Given the description of an element on the screen output the (x, y) to click on. 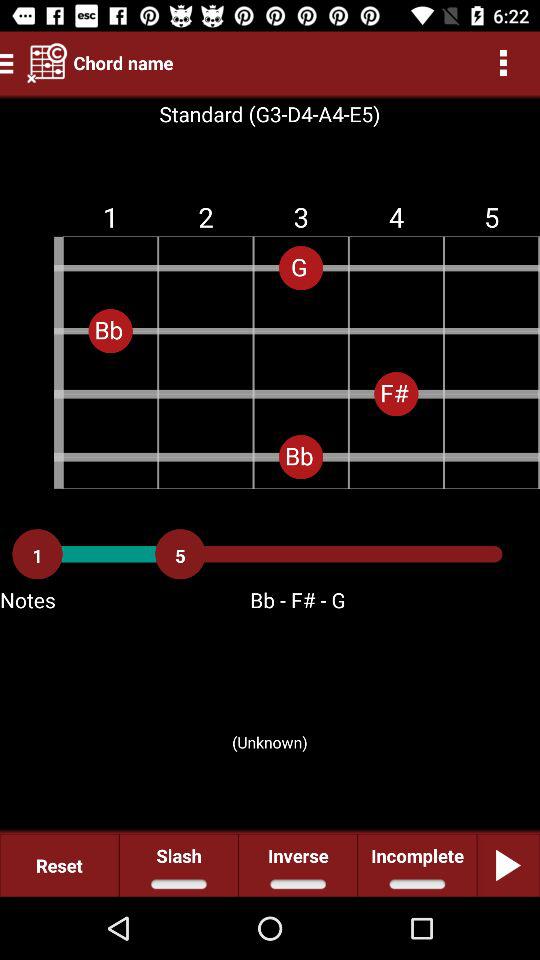
flip until inverse (297, 864)
